Given the description of an element on the screen output the (x, y) to click on. 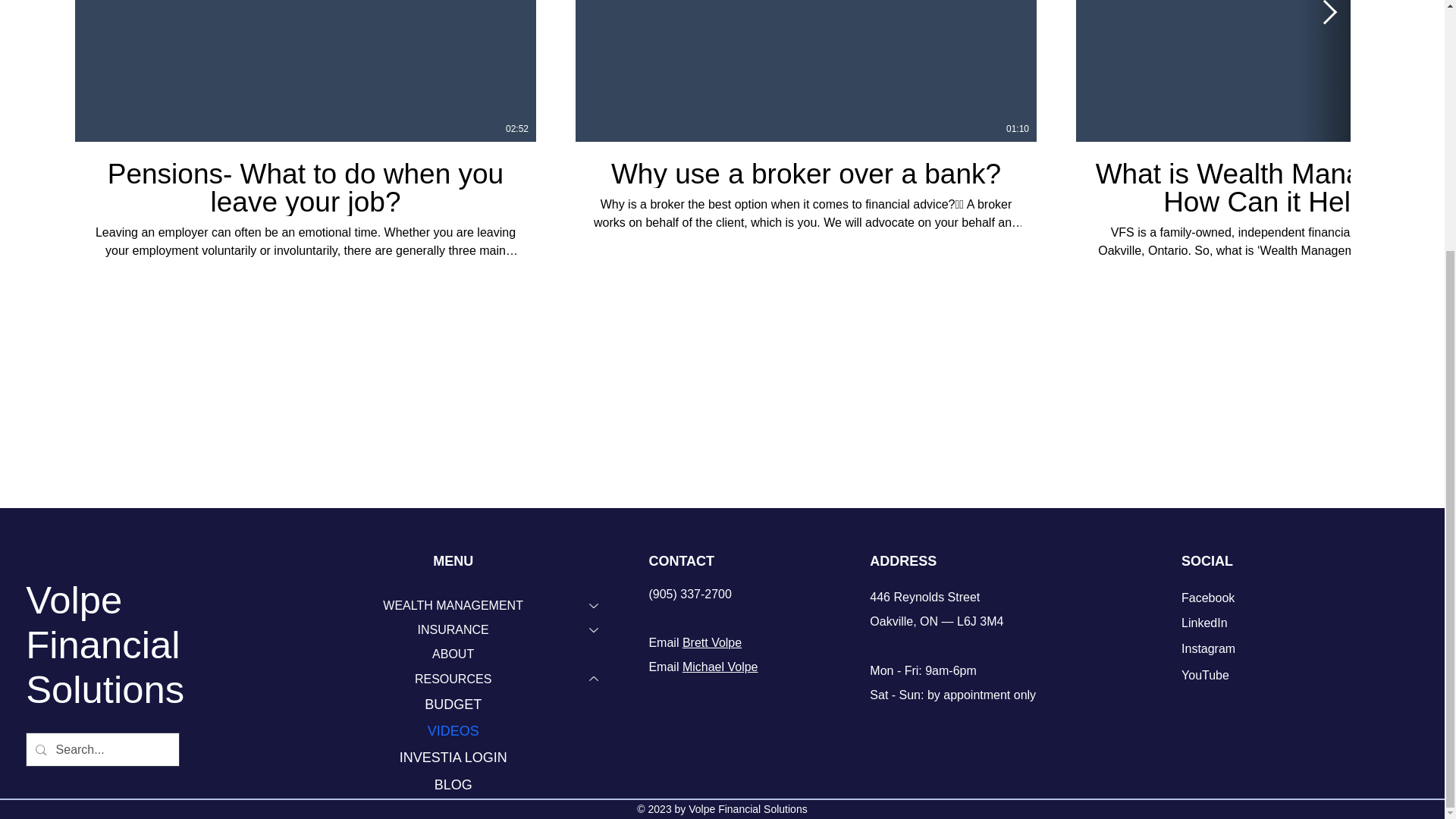
Why use a broker over a bank? (806, 172)
Pensions- What to do when you leave your job? (305, 186)
INSURANCE (452, 630)
WEALTH MANAGEMENT (452, 605)
